Given the description of an element on the screen output the (x, y) to click on. 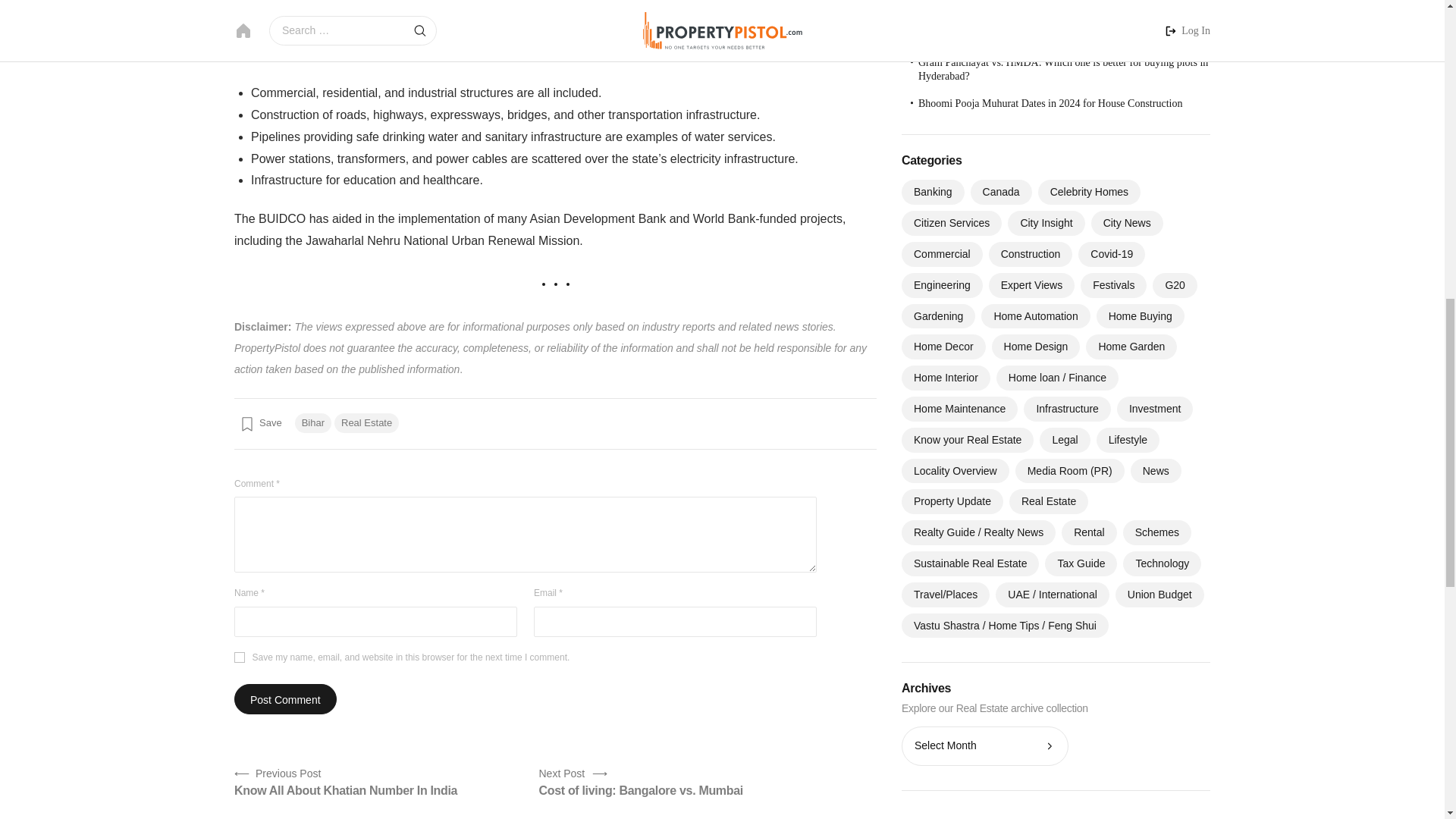
Post Comment (285, 698)
Bihar (313, 422)
yes (640, 780)
Bookmark This (239, 656)
Post Comment (259, 423)
Real Estate (285, 698)
